Given the description of an element on the screen output the (x, y) to click on. 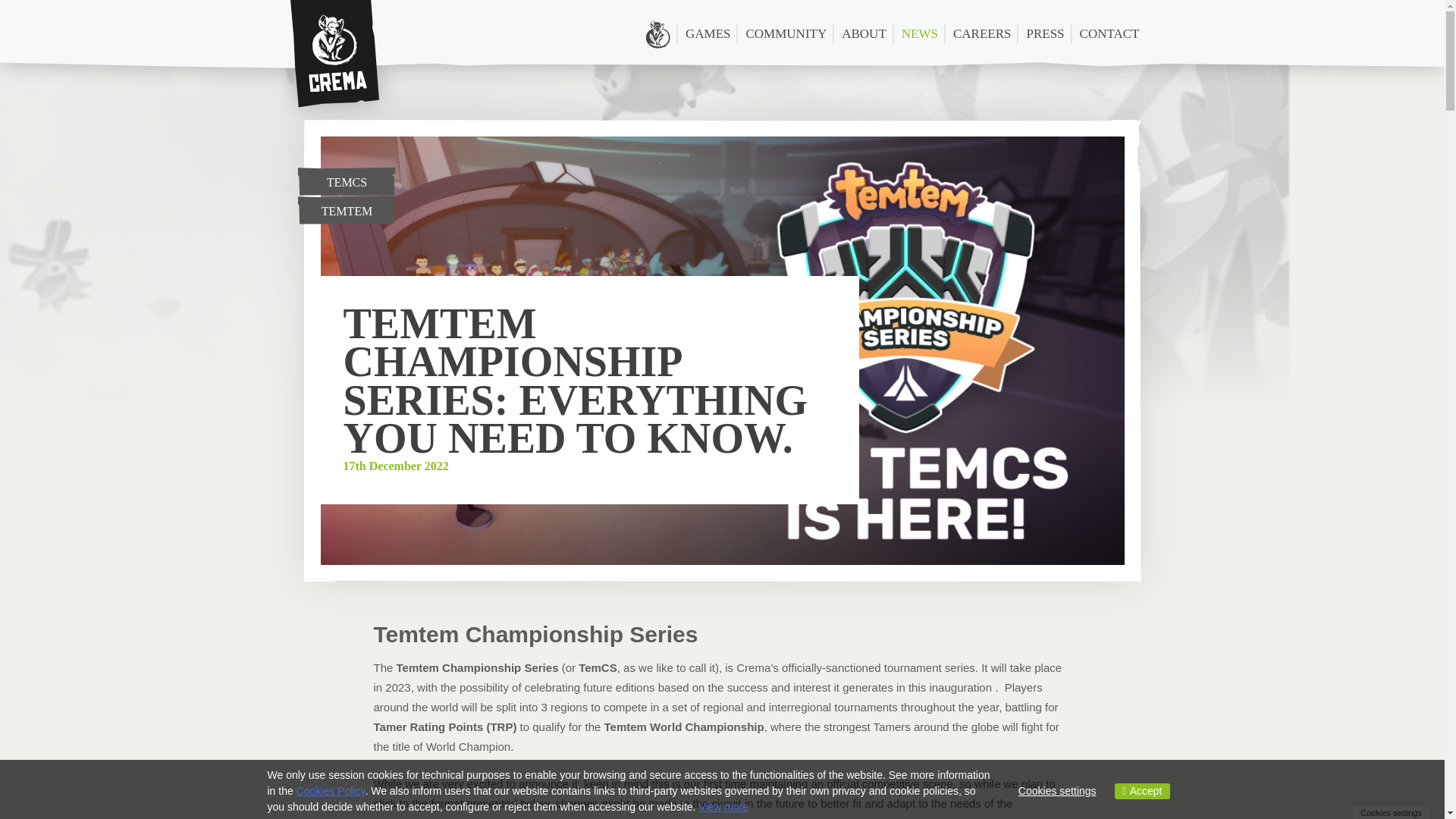
ABOUT (863, 33)
NEWS (918, 33)
TEMCS (346, 181)
PRESS (1044, 33)
GAMES (708, 33)
TEMTEM (346, 209)
COMMUNITY (786, 33)
CONTACT (1109, 33)
CAREERS (981, 33)
